Given the description of an element on the screen output the (x, y) to click on. 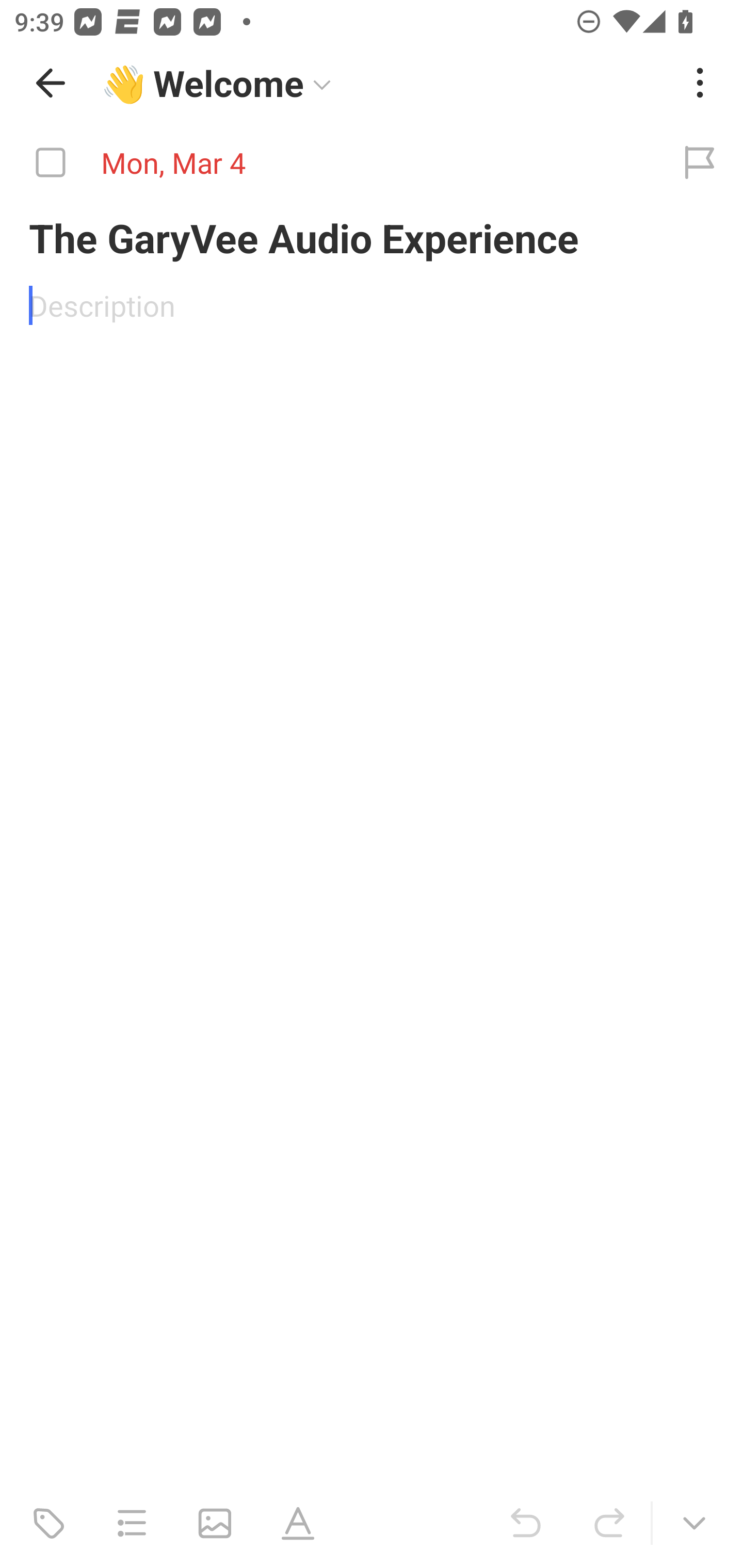
👋 Welcome (209, 93)
Mon, Mar 4  (328, 163)
The GaryVee Audio Experience (371, 237)
Description (371, 304)
